Given the description of an element on the screen output the (x, y) to click on. 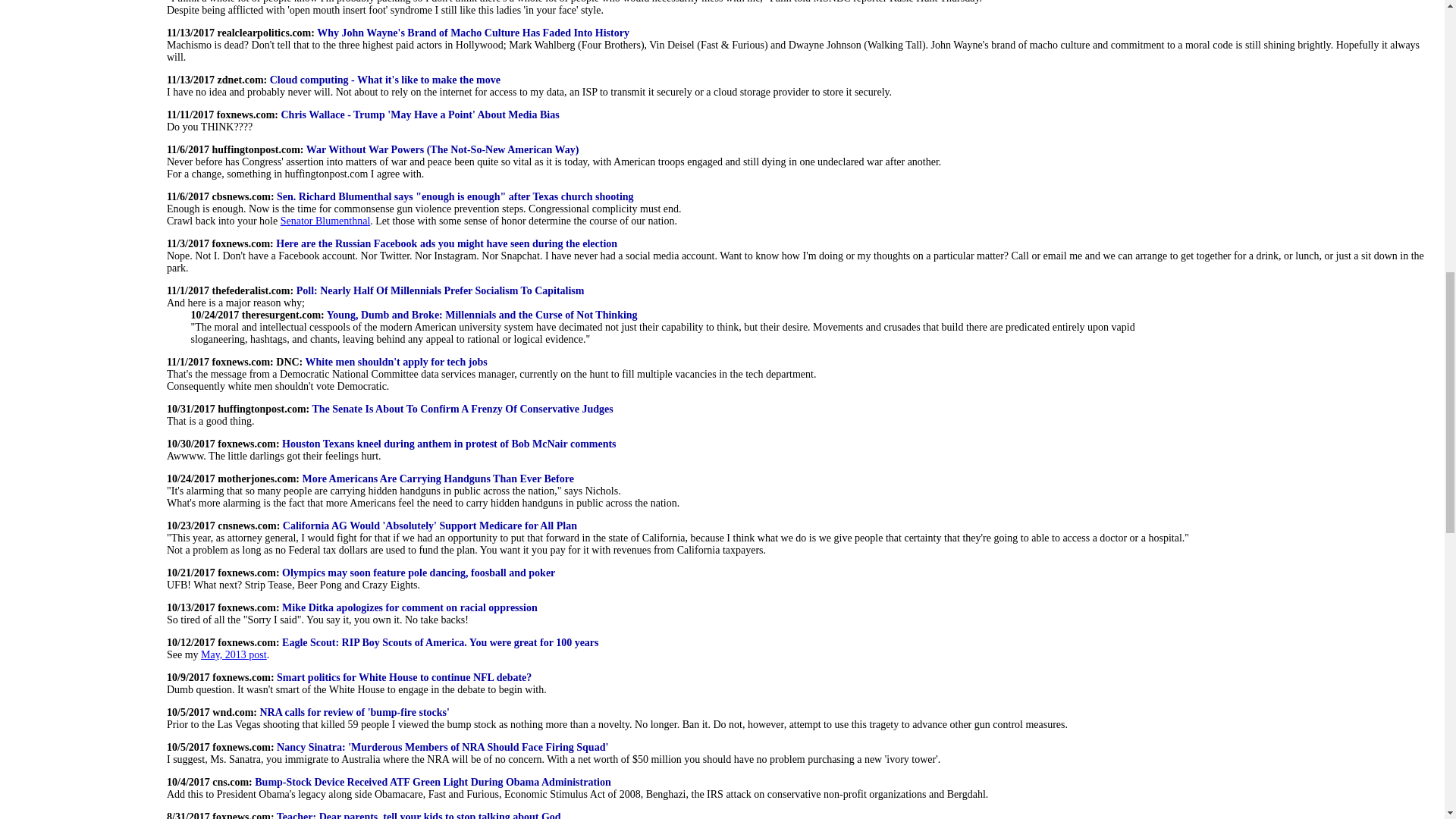
Senator Blumenthnal (326, 220)
May, 2013 post. (234, 654)
